Given the description of an element on the screen output the (x, y) to click on. 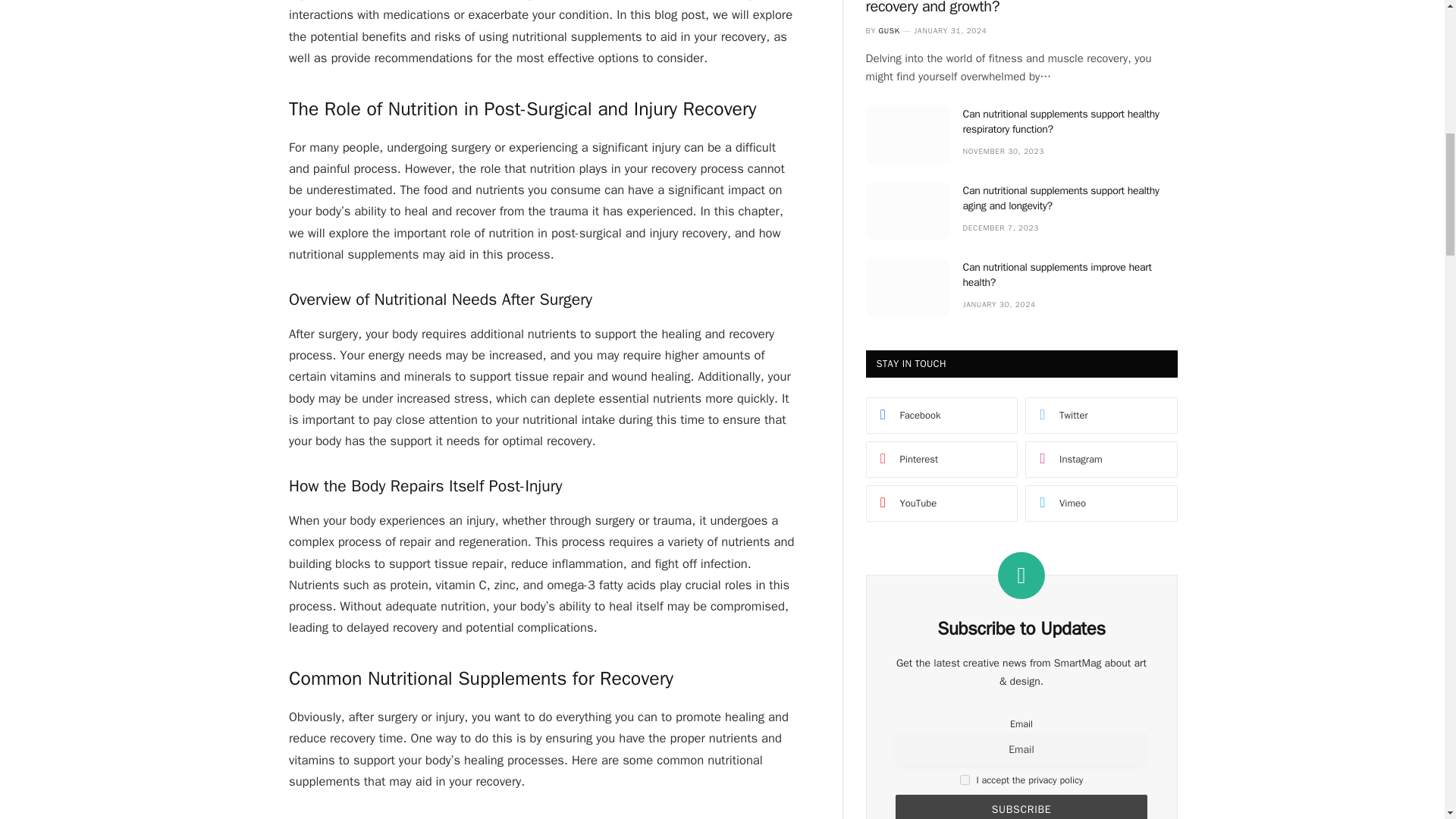
Subscribe (1021, 806)
on (964, 779)
